Given the description of an element on the screen output the (x, y) to click on. 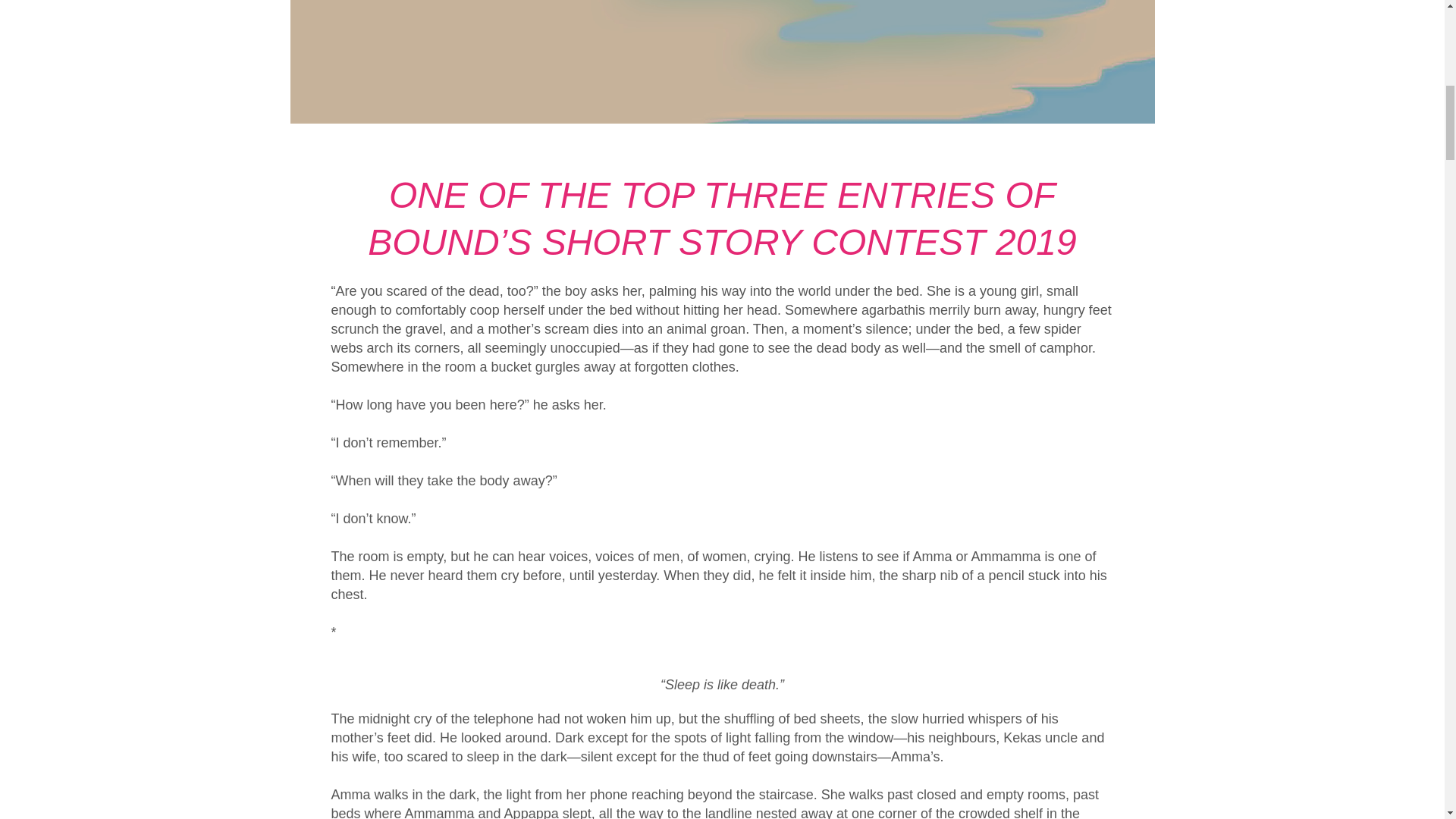
Starfish: A Short Story (721, 61)
